Given the description of an element on the screen output the (x, y) to click on. 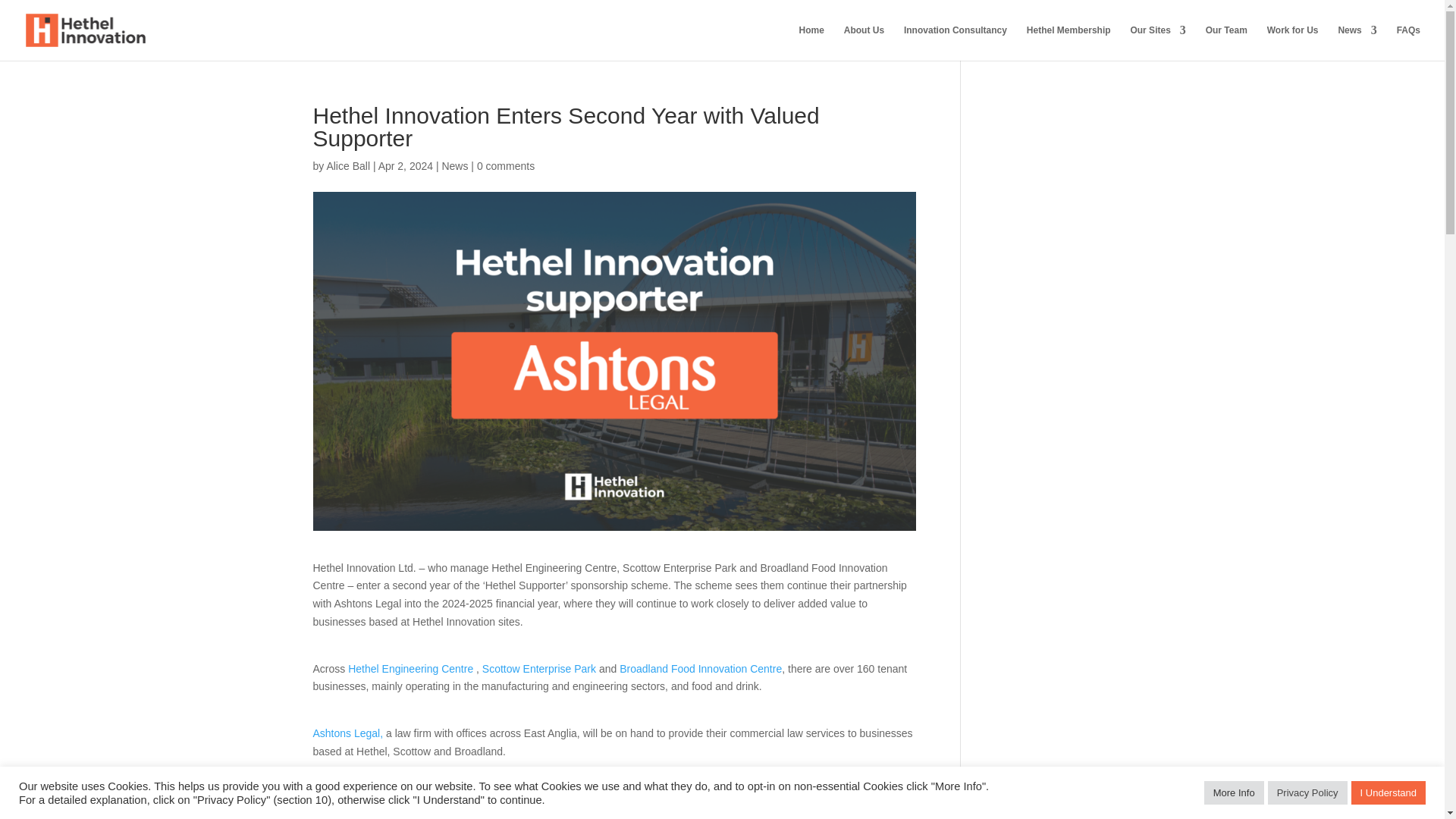
Alice Ball (347, 165)
News (454, 165)
Our Sites (1157, 42)
News (1356, 42)
Hethel Engineering Centre (410, 668)
Work for Us (1292, 42)
Ashtons Legal, (347, 733)
About Us (863, 42)
Posts by Alice Ball (347, 165)
Our Team (1226, 42)
